Given the description of an element on the screen output the (x, y) to click on. 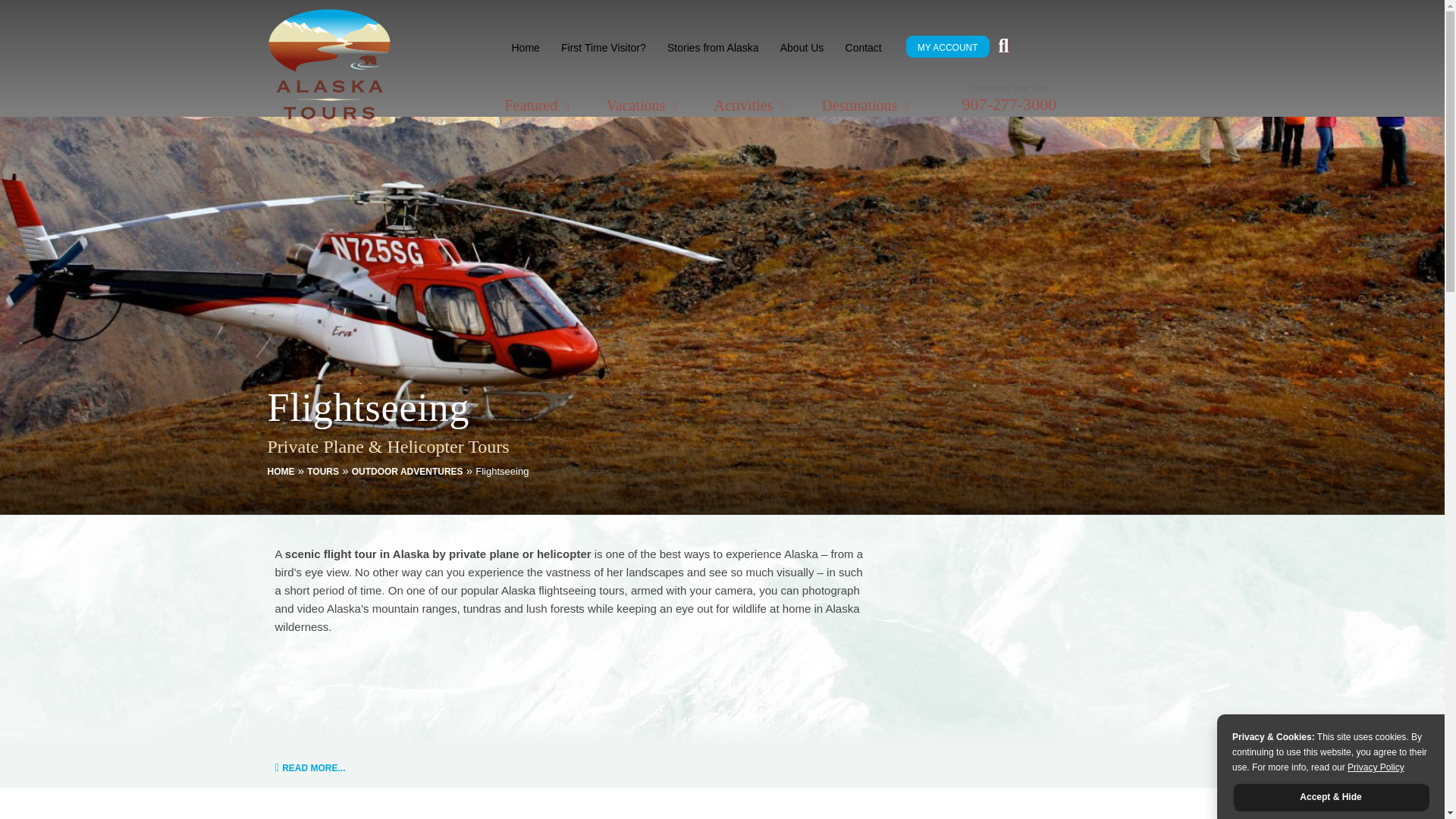
Stories from Alaska (713, 47)
Featured (539, 105)
About Us (801, 47)
Home (524, 47)
Contact (864, 47)
MY ACCOUNT (947, 47)
First Time Visitor? (603, 47)
